Given the description of an element on the screen output the (x, y) to click on. 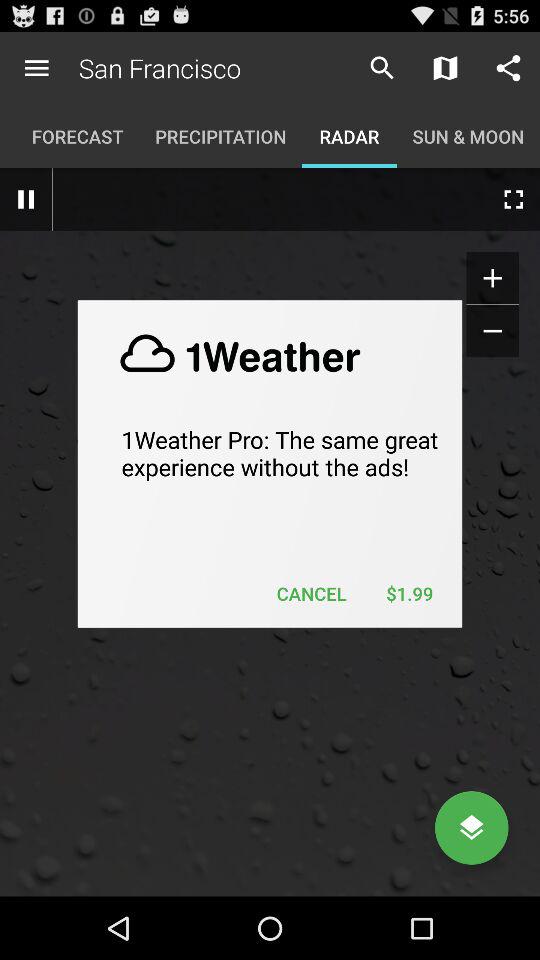
swipe until the cancel item (311, 593)
